Given the description of an element on the screen output the (x, y) to click on. 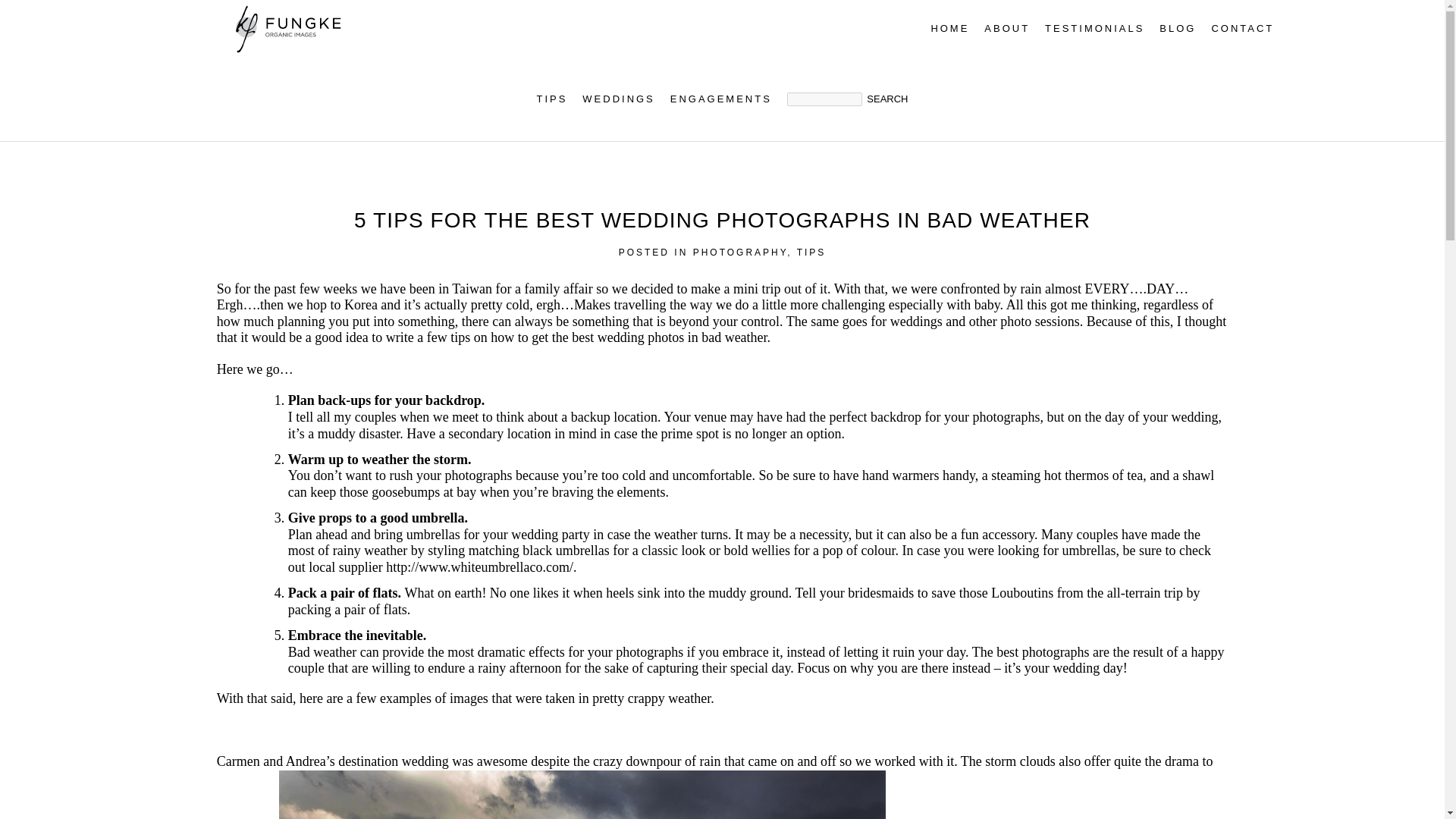
SEARCH (886, 99)
TESTIMONIALS (1094, 28)
SEARCH (886, 99)
SEARCH (886, 99)
BLOG (1176, 28)
ABOUT (1006, 28)
ENGAGEMENTS (720, 99)
HOME (949, 28)
WEDDINGS (617, 99)
CONTACT (1242, 28)
TIPS (811, 252)
PHOTOGRAPHY (740, 252)
TIPS (552, 99)
